Given the description of an element on the screen output the (x, y) to click on. 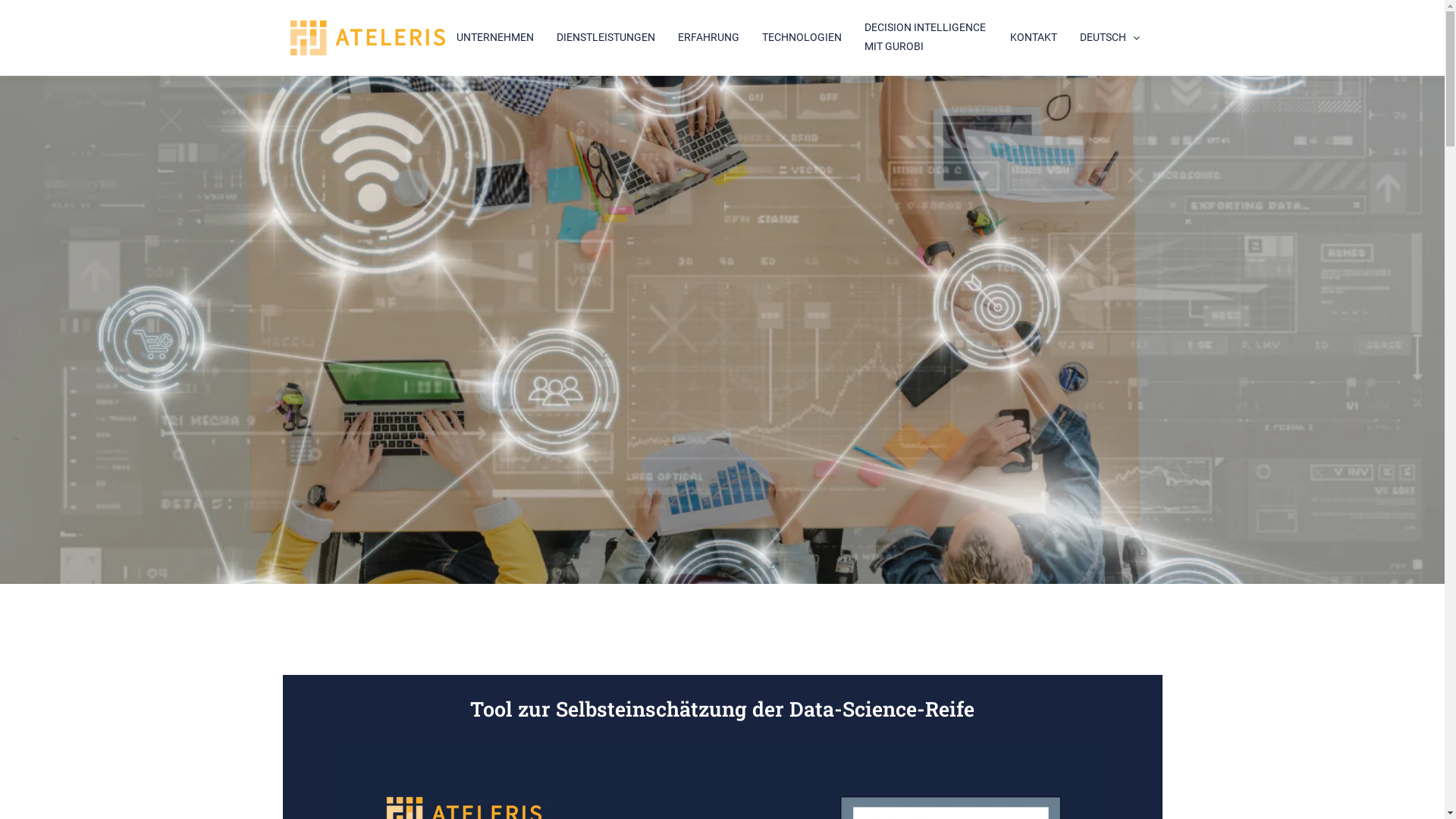
DECISION INTELLIGENCE MIT GUROBI Element type: text (925, 37)
TECHNOLOGIEN Element type: text (800, 37)
DEUTSCH Element type: text (1111, 37)
UNTERNEHMEN Element type: text (494, 37)
DIENSTLEISTUNGEN Element type: text (605, 37)
ERFAHRUNG Element type: text (708, 37)
KONTAKT Element type: text (1033, 37)
